Given the description of an element on the screen output the (x, y) to click on. 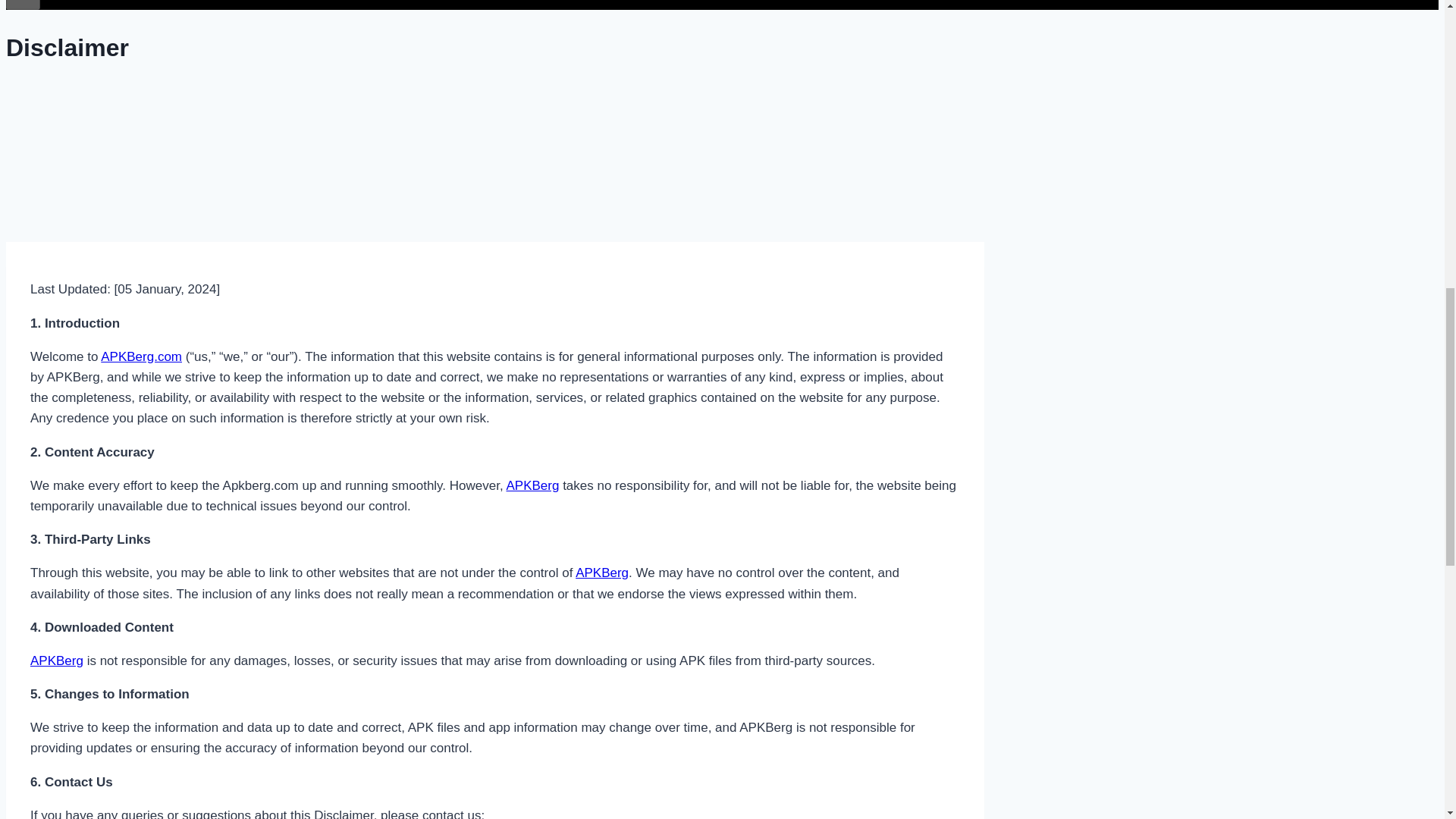
Toggle Menu (22, 4)
APKBerg (56, 660)
APKBerg (601, 572)
APKBerg (532, 485)
APKBerg.com (141, 356)
